Given the description of an element on the screen output the (x, y) to click on. 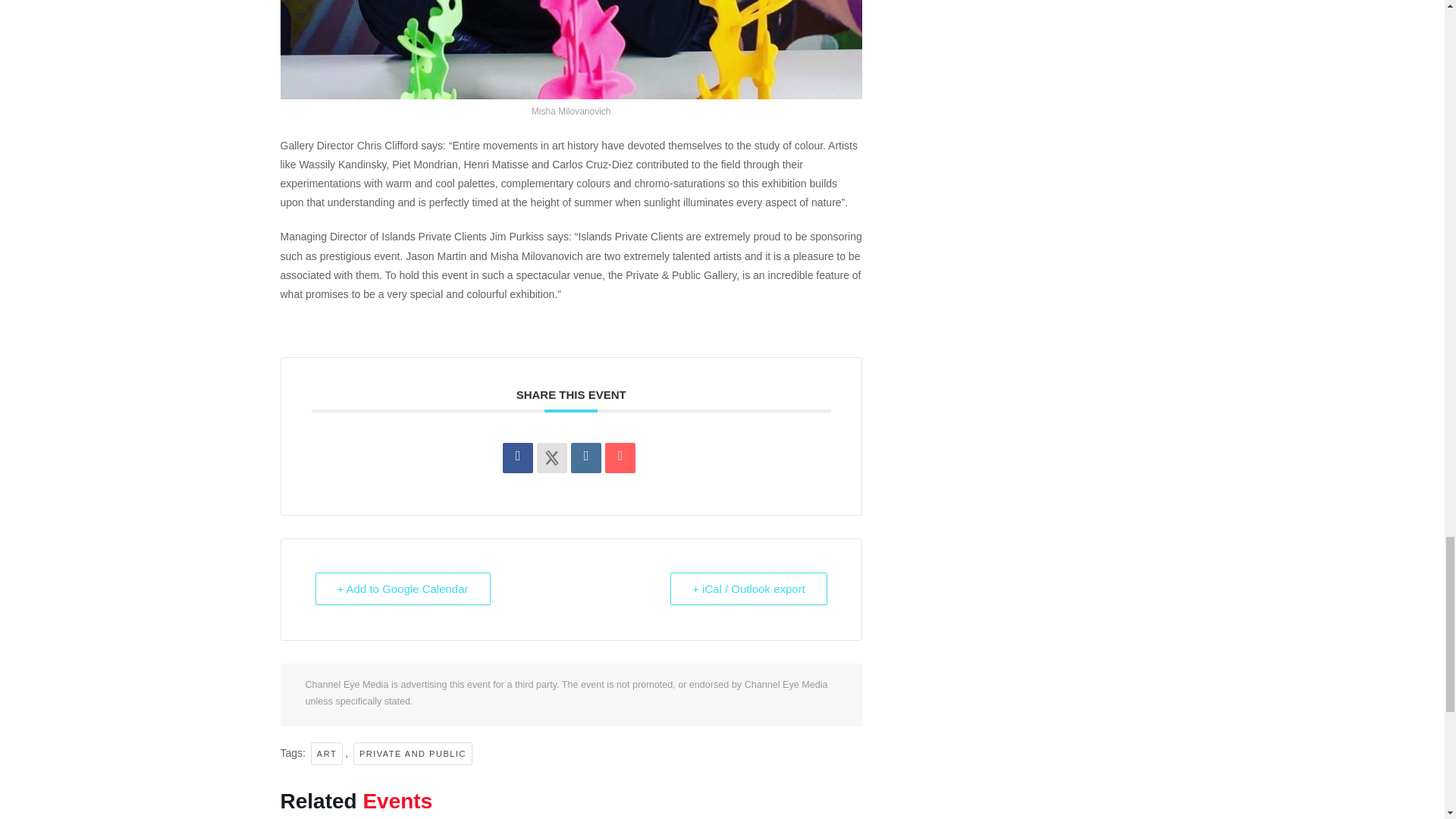
Email (619, 458)
X Social Network (552, 458)
Linkedin (585, 458)
Share on Facebook (517, 458)
